Given the description of an element on the screen output the (x, y) to click on. 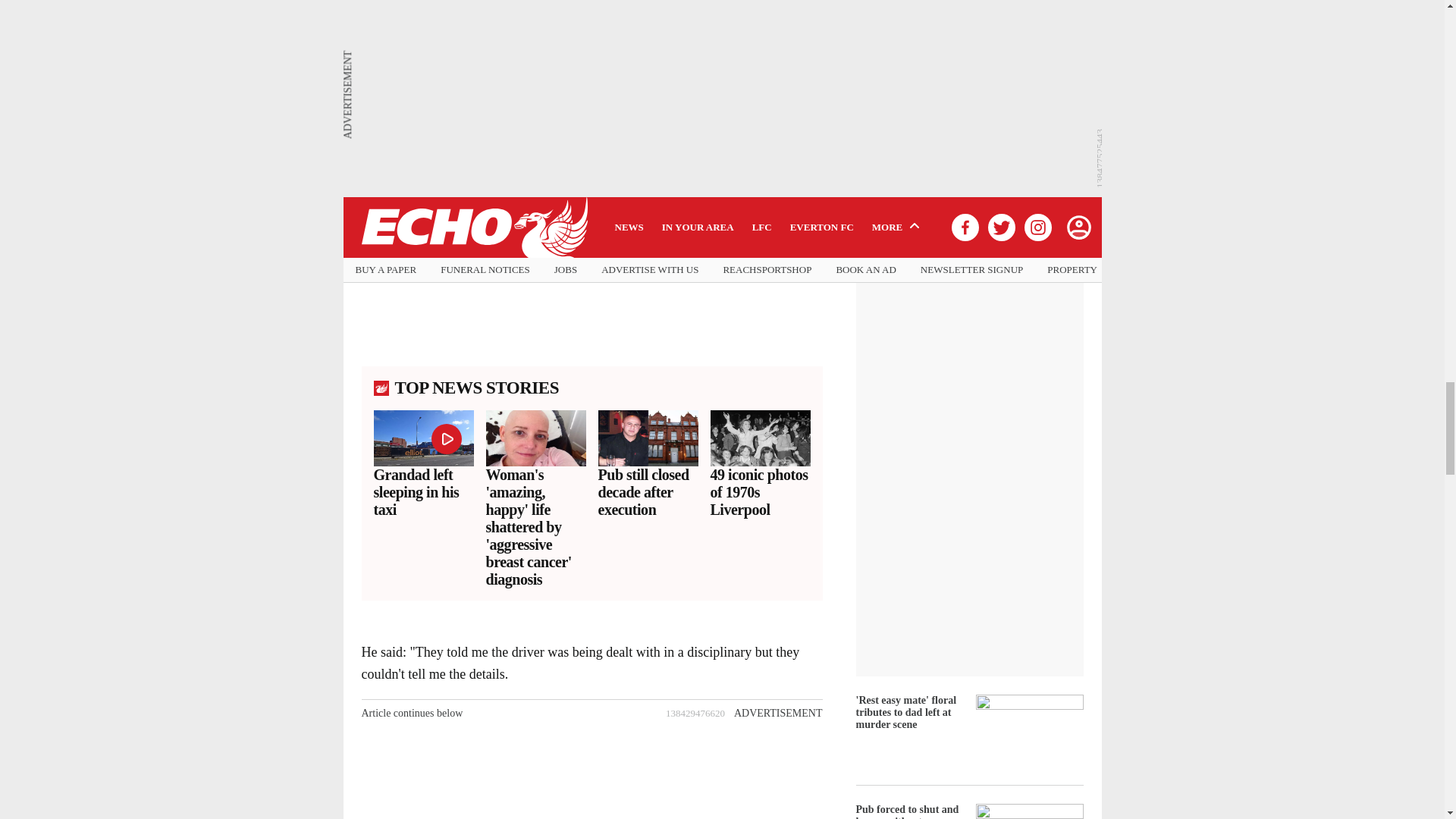
3rd party ad content (590, 772)
3rd party ad content (590, 262)
